Given the description of an element on the screen output the (x, y) to click on. 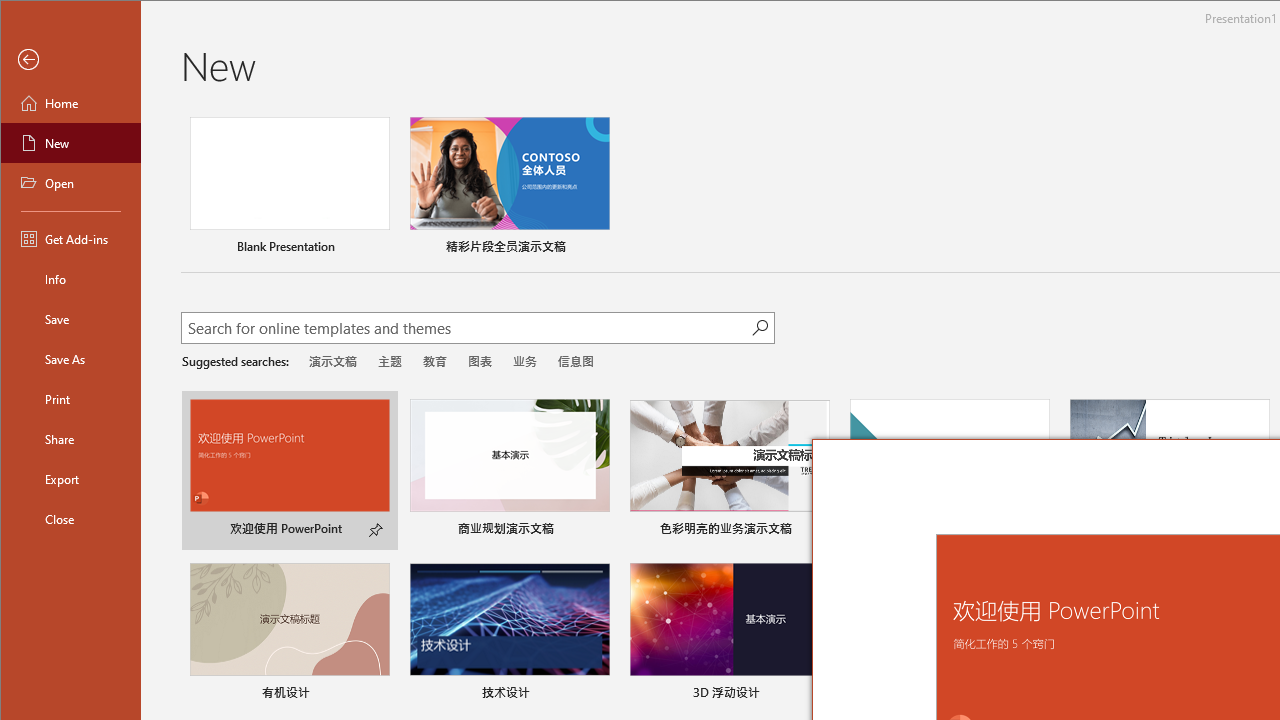
Start searching (760, 327)
Print (70, 398)
Blank Presentation (289, 187)
New (70, 142)
Info (70, 278)
Search for online templates and themes (467, 330)
Get Add-ins (70, 238)
